Given the description of an element on the screen output the (x, y) to click on. 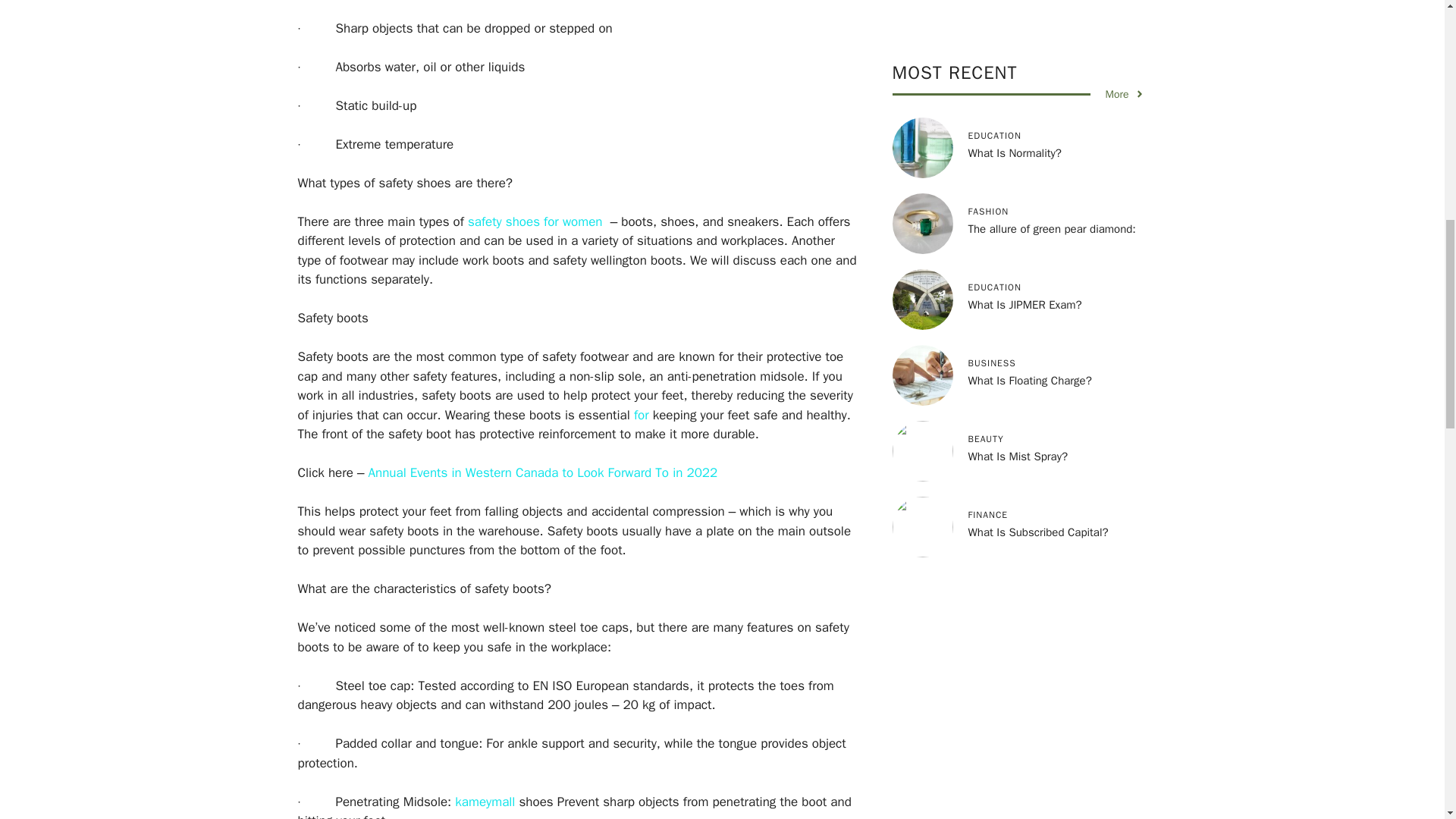
safety shoes for women (534, 221)
kameymall (484, 801)
Annual Events in Western Canada to Look Forward To in 2022 (542, 472)
for (641, 414)
